Given the description of an element on the screen output the (x, y) to click on. 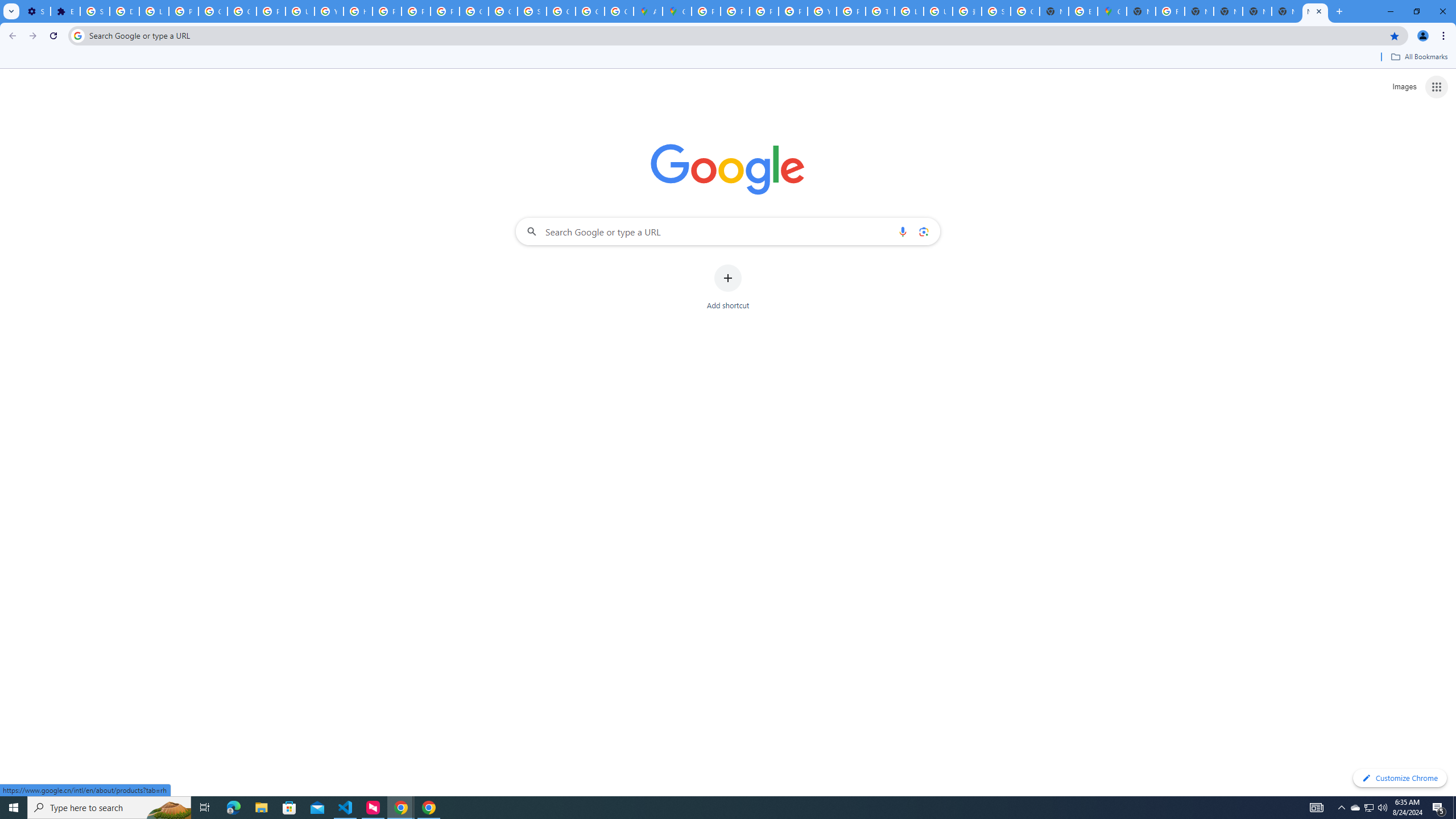
Google Maps (1111, 11)
Google Maps (677, 11)
